Given the description of an element on the screen output the (x, y) to click on. 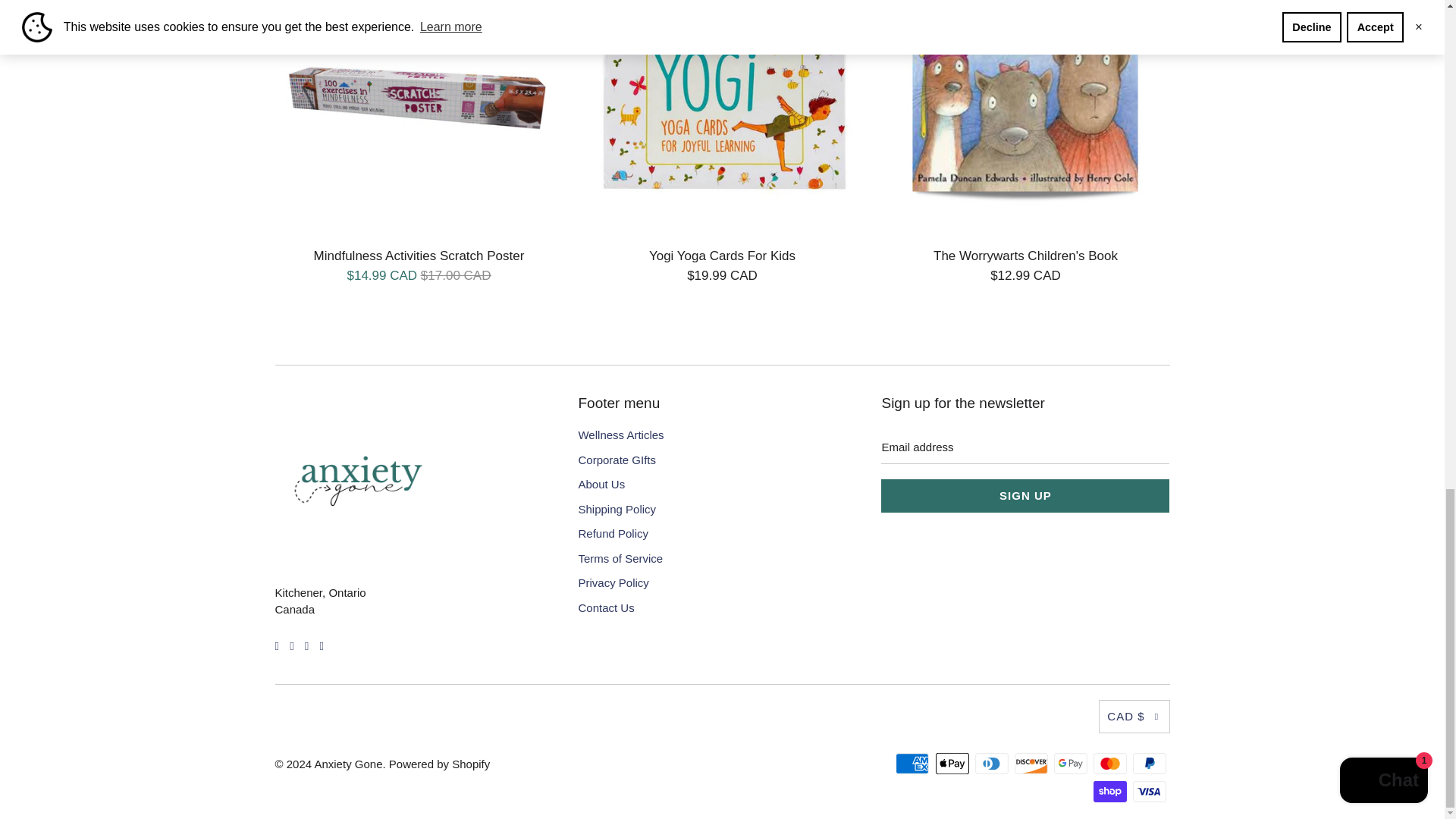
Anxiety Gone on Instagram (306, 645)
Diners Club (993, 763)
Visa (1150, 791)
Mastercard (1111, 763)
American Express (913, 763)
Apple Pay (954, 763)
Anxiety Gone on Facebook (276, 645)
Discover (1032, 763)
Email Anxiety Gone (320, 645)
Google Pay (1072, 763)
PayPal (1150, 763)
Sign Up (1024, 495)
Shop Pay (1111, 791)
Anxiety Gone on Pinterest (291, 645)
